Given the description of an element on the screen output the (x, y) to click on. 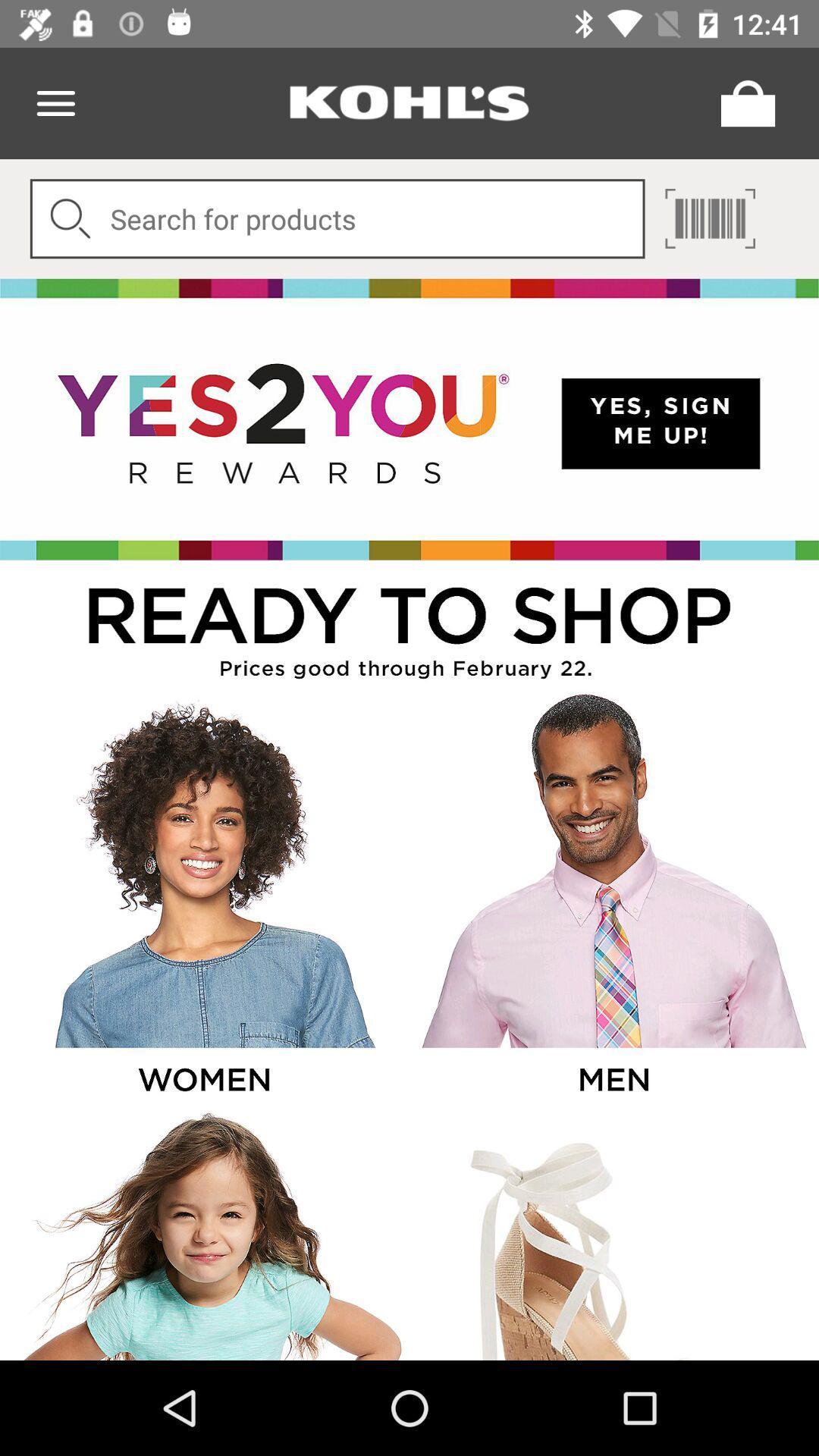
advertisement page (613, 899)
